Given the description of an element on the screen output the (x, y) to click on. 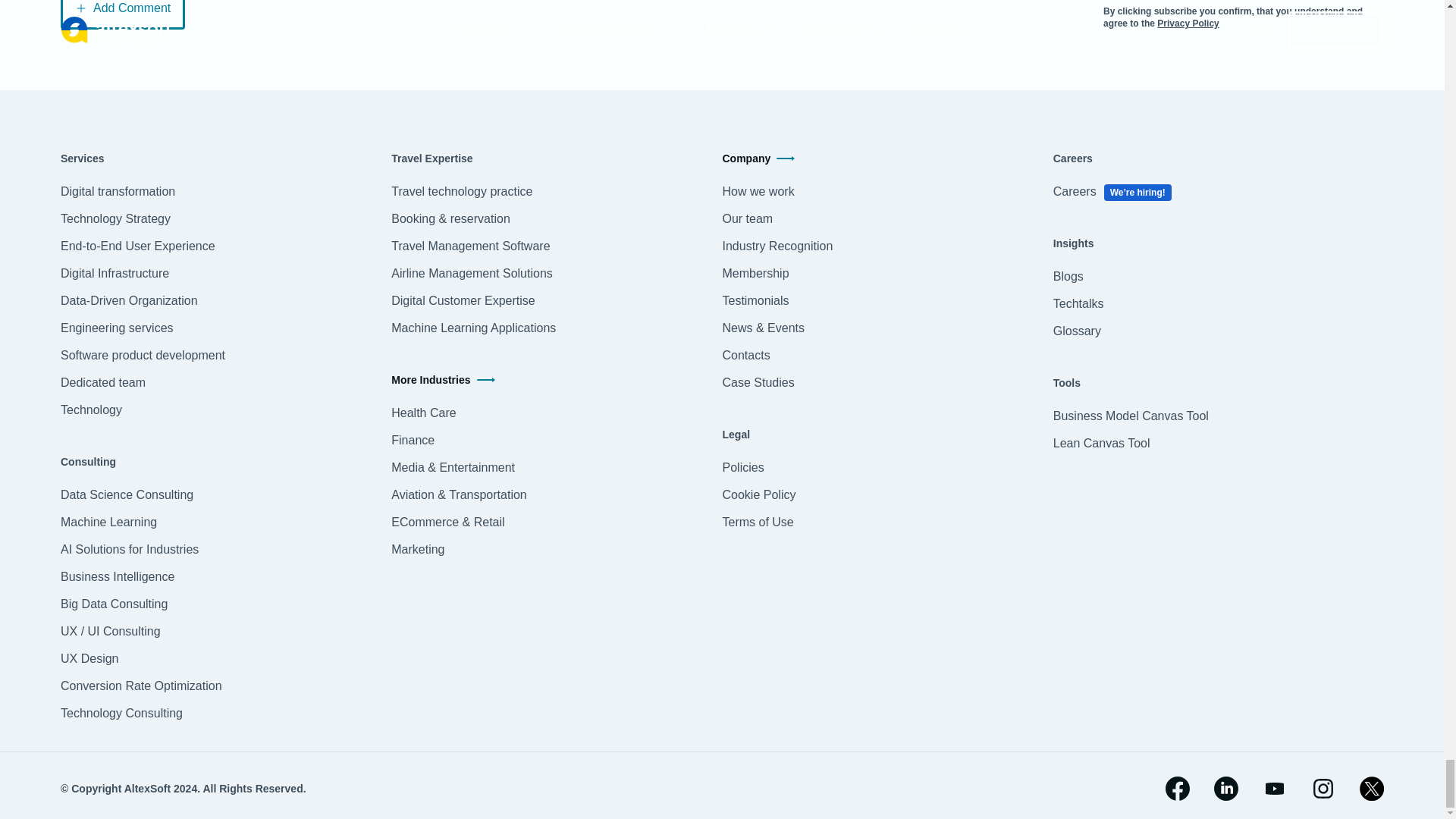
twitter (1371, 788)
facebook (1177, 788)
instagram (1323, 788)
youtube (1274, 788)
linkedin (1226, 788)
